Given the description of an element on the screen output the (x, y) to click on. 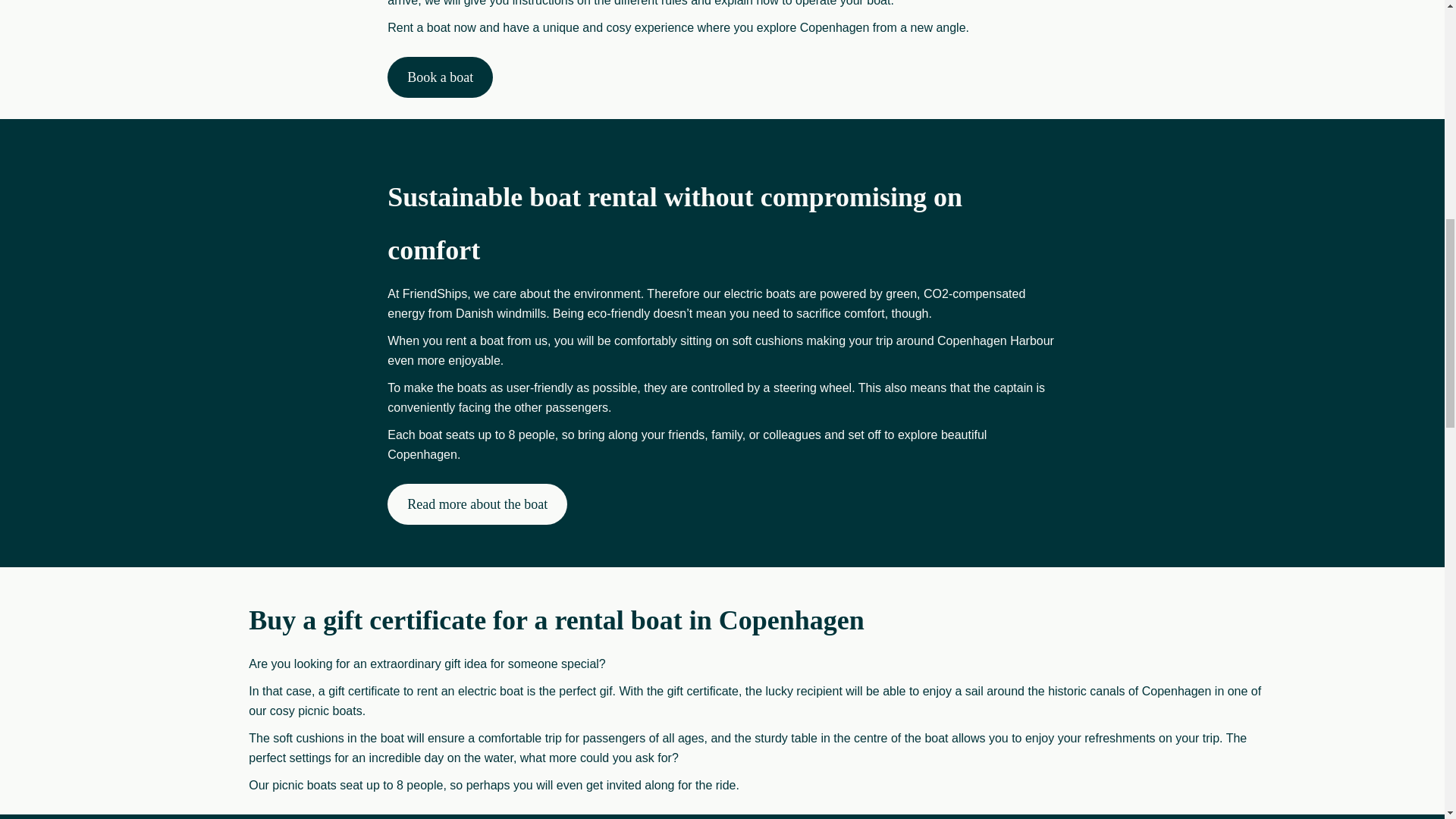
gift certificate to rent an electric boat (425, 690)
Read more about the boat (477, 504)
Book a boat (440, 76)
